Given the description of an element on the screen output the (x, y) to click on. 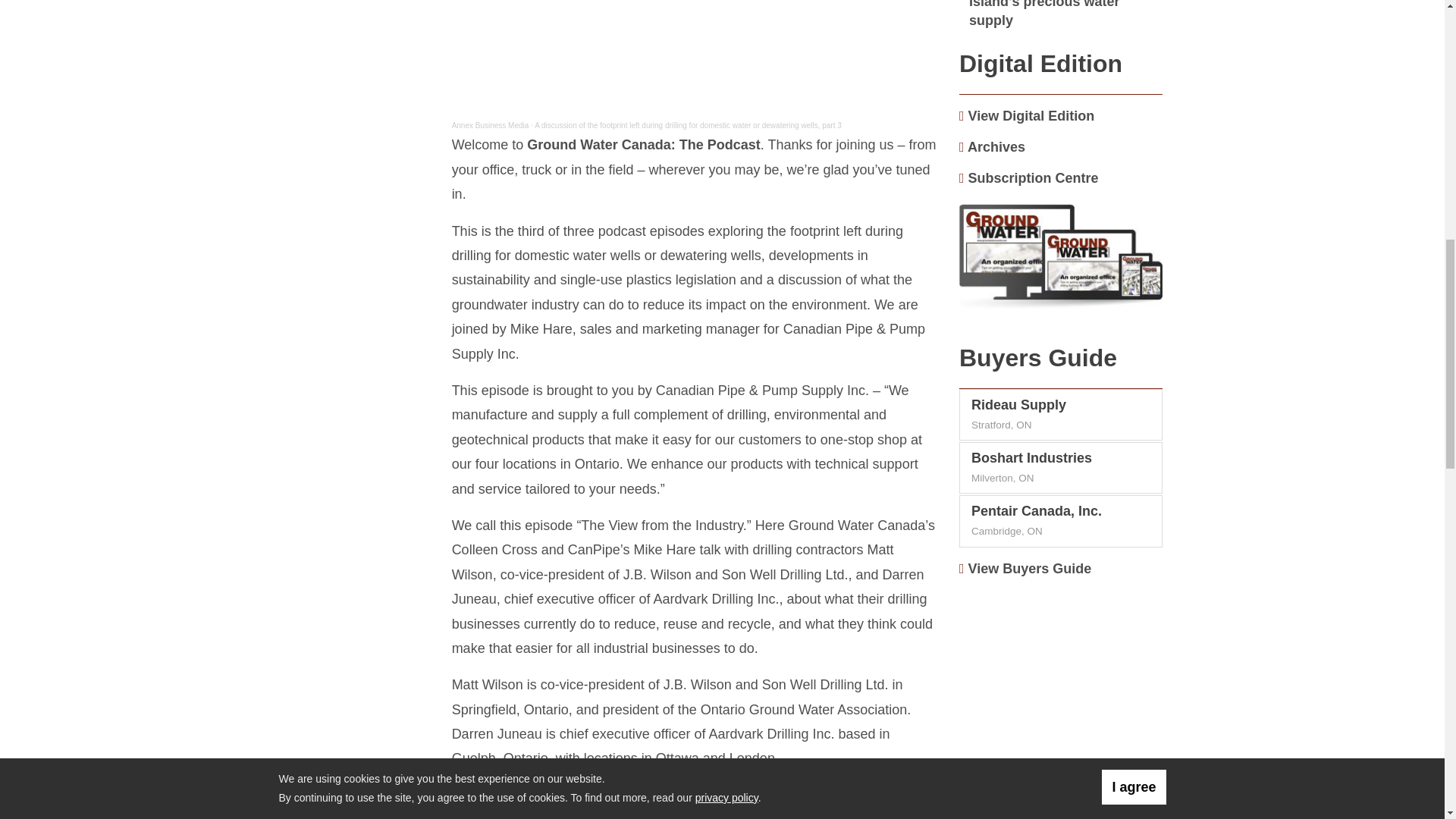
3rd party ad content (1060, 685)
Annex Business Media (490, 125)
